Given the description of an element on the screen output the (x, y) to click on. 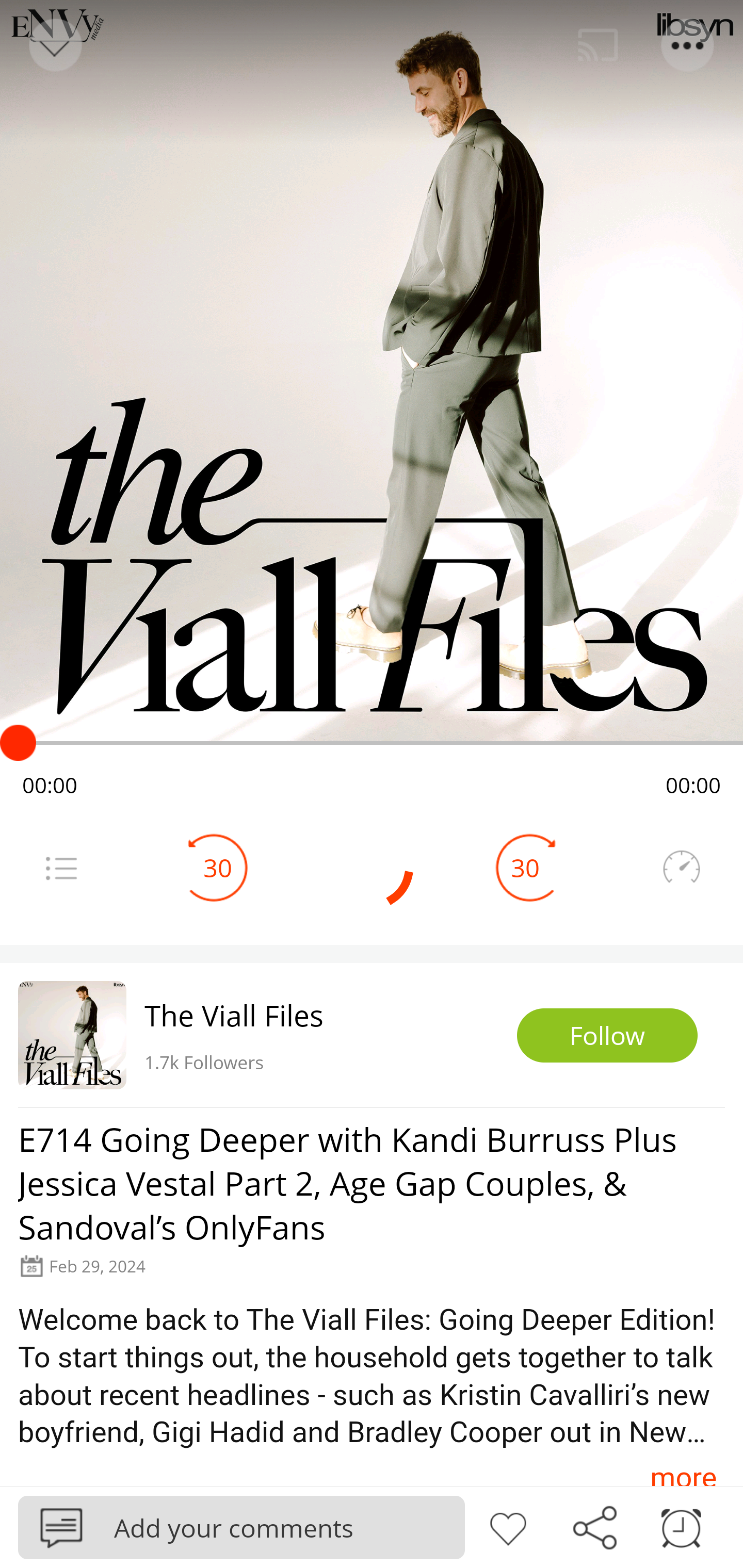
Back (53, 45)
Cast. Disconnected (597, 45)
Menu (688, 45)
30 Seek Backward (217, 867)
30 Seek Forward (525, 867)
Menu (60, 867)
Speedometer (681, 867)
The Viall Files 1.7k Followers Follow (371, 1034)
Follow (607, 1035)
more (682, 1468)
Like (508, 1526)
Share (594, 1526)
Sleep timer (681, 1526)
Podbean Add your comments (241, 1526)
